Given the description of an element on the screen output the (x, y) to click on. 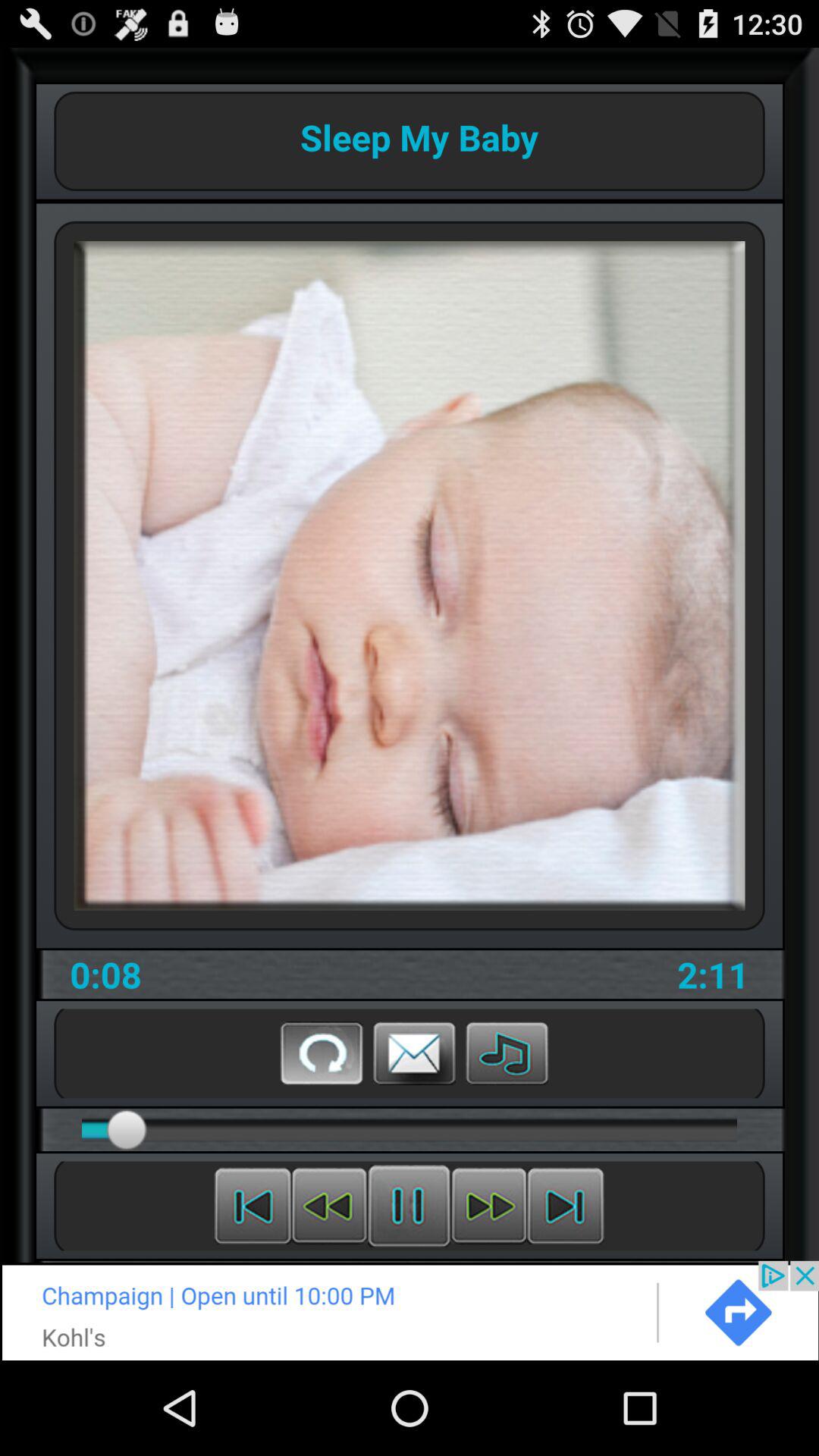
message button (414, 1053)
